Given the description of an element on the screen output the (x, y) to click on. 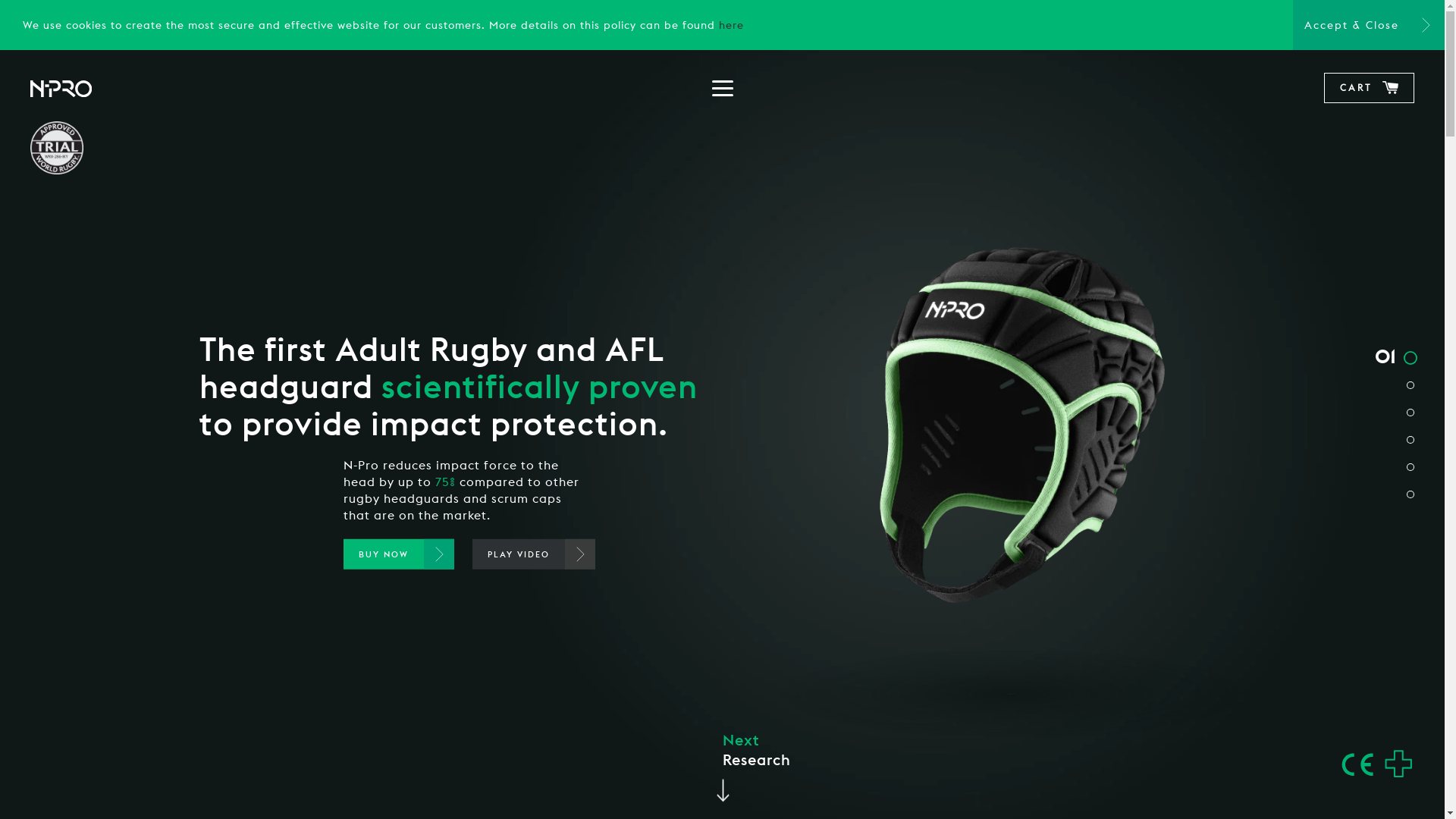
N-Pro Australia on Twitter Element type: hover (1219, 628)
Registration Element type: text (252, 733)
here Element type: text (730, 24)
Research & Development Element type: text (288, 638)
Returns Element type: text (1059, 735)
PLAY VIDEO Element type: text (533, 554)
Accept & Close Element type: text (1368, 25)
Product Information Element type: text (274, 619)
N-Pro Australia on Instagram Element type: hover (1220, 580)
About Element type: text (235, 676)
Contact Element type: text (240, 714)
Terms Element type: text (1107, 735)
Privacy Policy Element type: text (1180, 735)
01 Element type: text (1400, 358)
CART Element type: text (1369, 87)
FAQ Element type: text (229, 695)
BUY NOW Element type: text (398, 554)
N-Pro Australia on Facebook Element type: hover (1221, 604)
Concussion Element type: text (249, 657)
Next
Research Element type: text (755, 763)
